Given the description of an element on the screen output the (x, y) to click on. 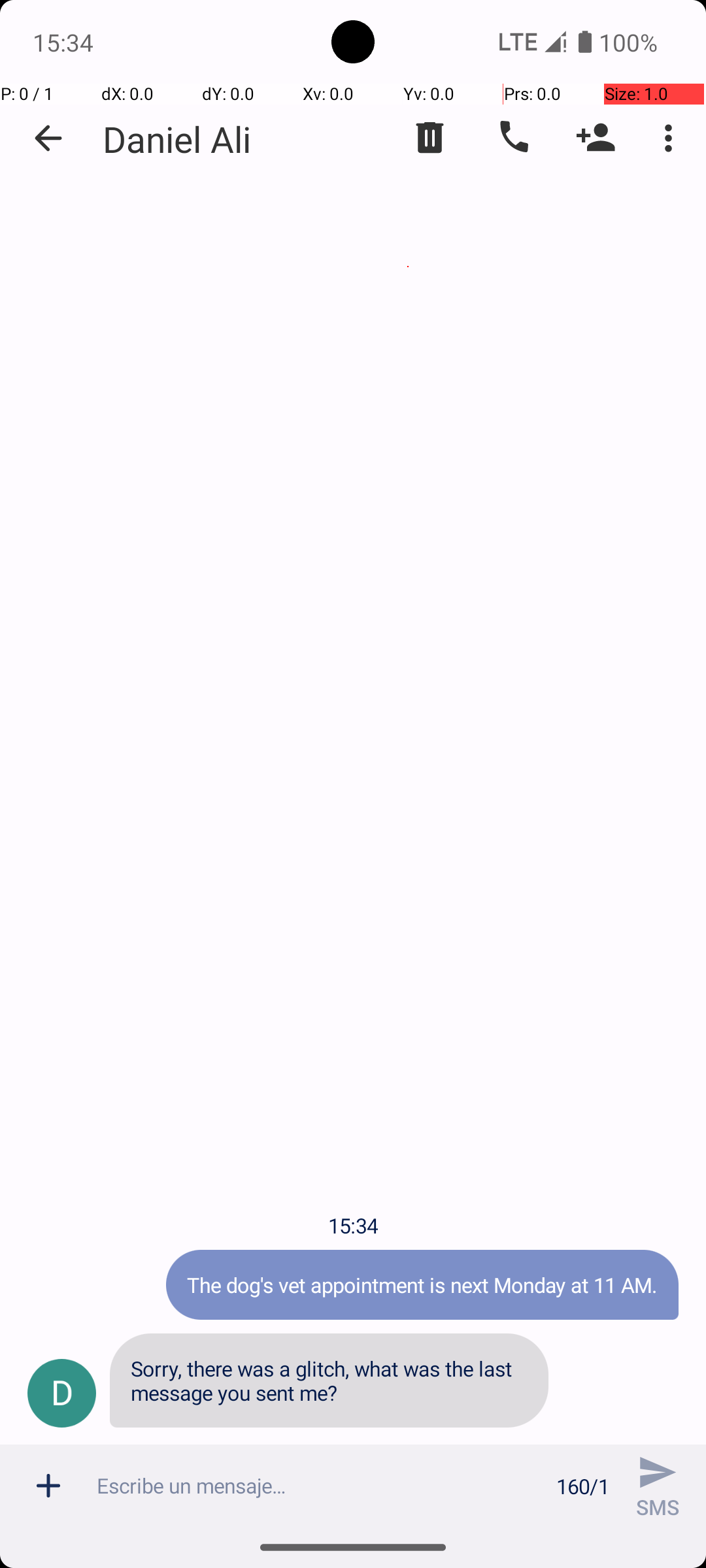
Atrás Element type: android.widget.ImageButton (48, 138)
Daniel Ali Element type: android.widget.TextView (176, 138)
Eliminar Element type: android.widget.Button (429, 137)
Marcar número Element type: android.widget.Button (512, 137)
Añadir persona Element type: android.widget.Button (595, 137)
Archivo adjunto Element type: android.widget.ImageView (48, 1485)
Escribe un mensaje… Element type: android.widget.EditText (318, 1485)
The dog's vet appointment is next Monday at 11 AM. Element type: android.widget.TextView (422, 1284)
